Given the description of an element on the screen output the (x, y) to click on. 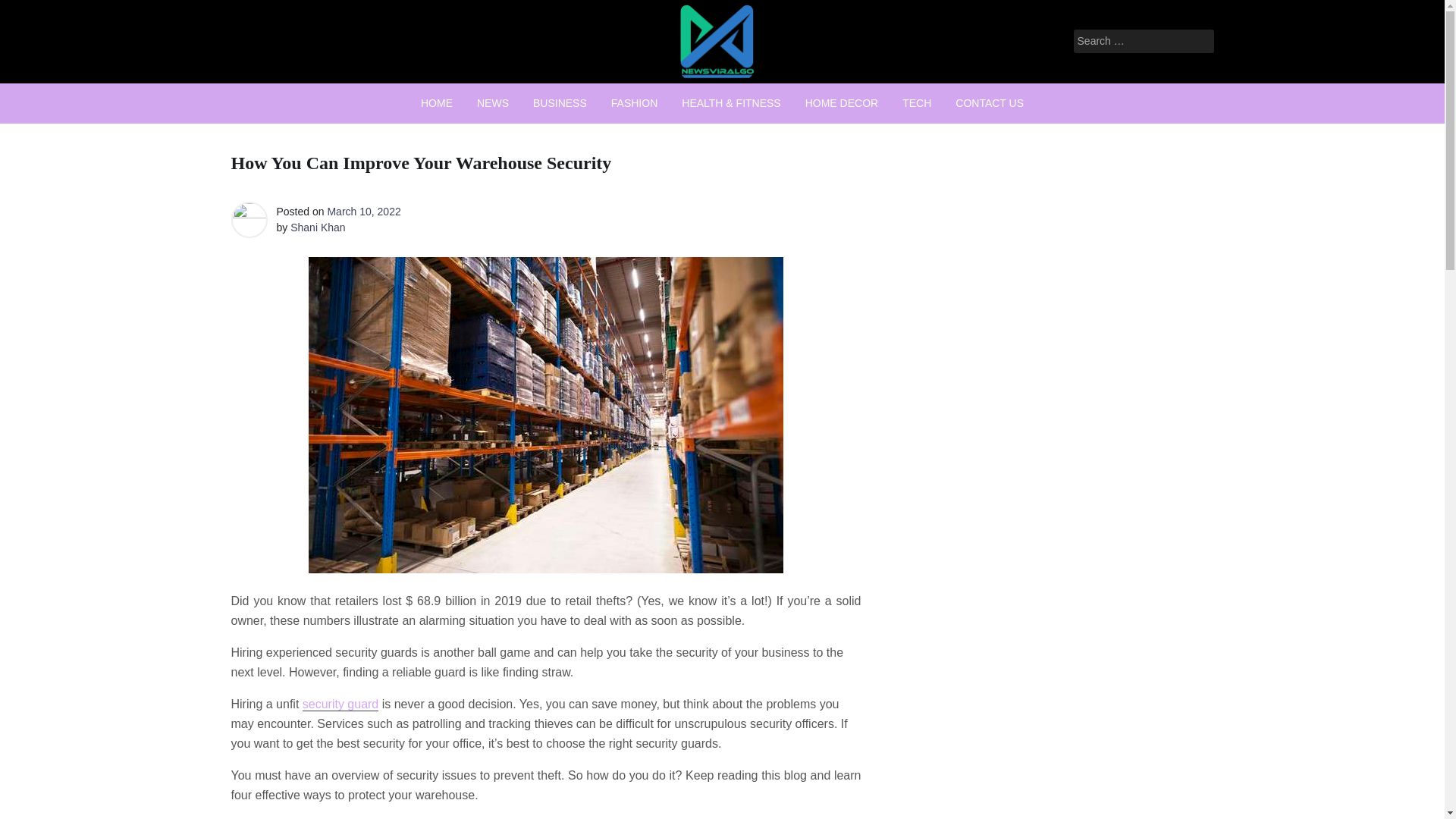
FASHION (633, 103)
NewsViralGo (645, 98)
NEWS (492, 103)
CONTACT US (989, 103)
TECH (916, 103)
HOME DECOR (841, 103)
Search (32, 12)
Shani Khan (317, 227)
March 10, 2022 (363, 211)
HOME (436, 103)
BUSINESS (559, 103)
security guard (340, 704)
